Given the description of an element on the screen output the (x, y) to click on. 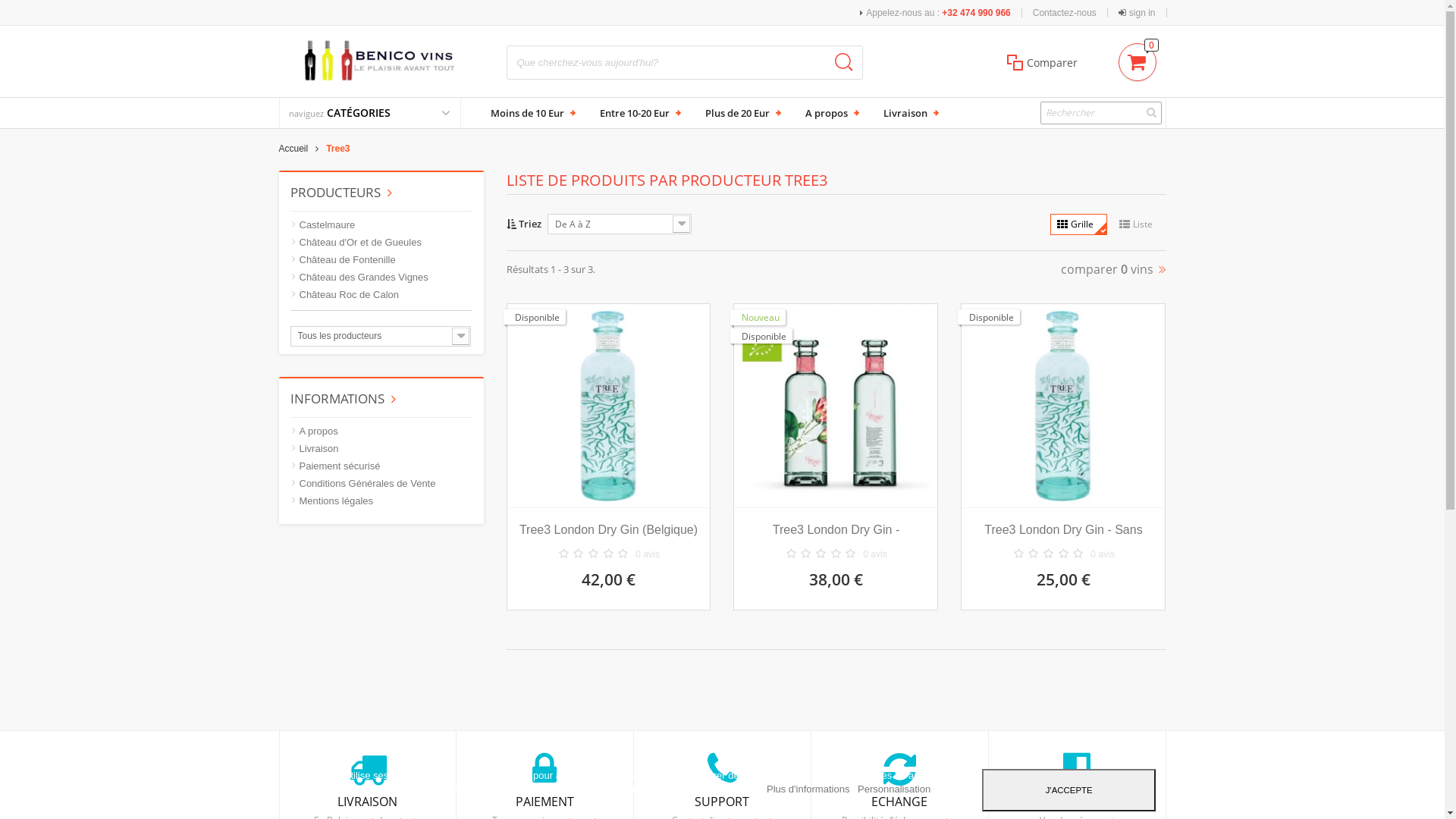
INFORMATIONS Element type: text (342, 398)
A propos Element type: text (313, 431)
Personnalisation Element type: text (893, 788)
Accueil Element type: text (302, 148)
+32 474 990 966 Element type: text (975, 12)
PRODUCTEURS Element type: text (340, 191)
Tree3 London Dry Gin - Mademoiselle Luna Element type: hover (835, 405)
Liste Element type: text (1138, 224)
0 Element type: text (1137, 58)
Tree3 London Dry Gin (Belgique) Element type: hover (608, 405)
Plus de 20 Eur Element type: text (739, 113)
Tree3 London Dry Gin - Mademoiselle Luna Element type: text (835, 529)
Livraison Element type: text (313, 448)
Grille Element type: text (1077, 224)
Moins de 10 Eur Element type: text (530, 113)
comparer 0 vins Element type: text (1112, 269)
A propos Element type: text (828, 113)
Livraison Element type: text (908, 113)
BENICO vins srl Element type: hover (381, 60)
sign in Element type: text (1137, 12)
Castelmaure Element type: text (321, 224)
Click or press enter Element type: hover (1100, 112)
Entre 10-20 Eur Element type: text (638, 113)
Nouveau Element type: text (757, 317)
Rechercher Element type: text (843, 62)
Comparer Element type: text (1041, 62)
Tree3 London Dry Gin - Sans Alcool... Element type: text (1063, 529)
J'ACCEPTE Element type: text (1068, 789)
Tree3 London Dry Gin - Sans Alcool (Belgique) Element type: hover (1063, 405)
Contactez-nous Element type: text (1064, 12)
Tree3 London Dry Gin (Belgique) Element type: text (608, 529)
Plus d'informations Element type: text (809, 788)
